Given the description of an element on the screen output the (x, y) to click on. 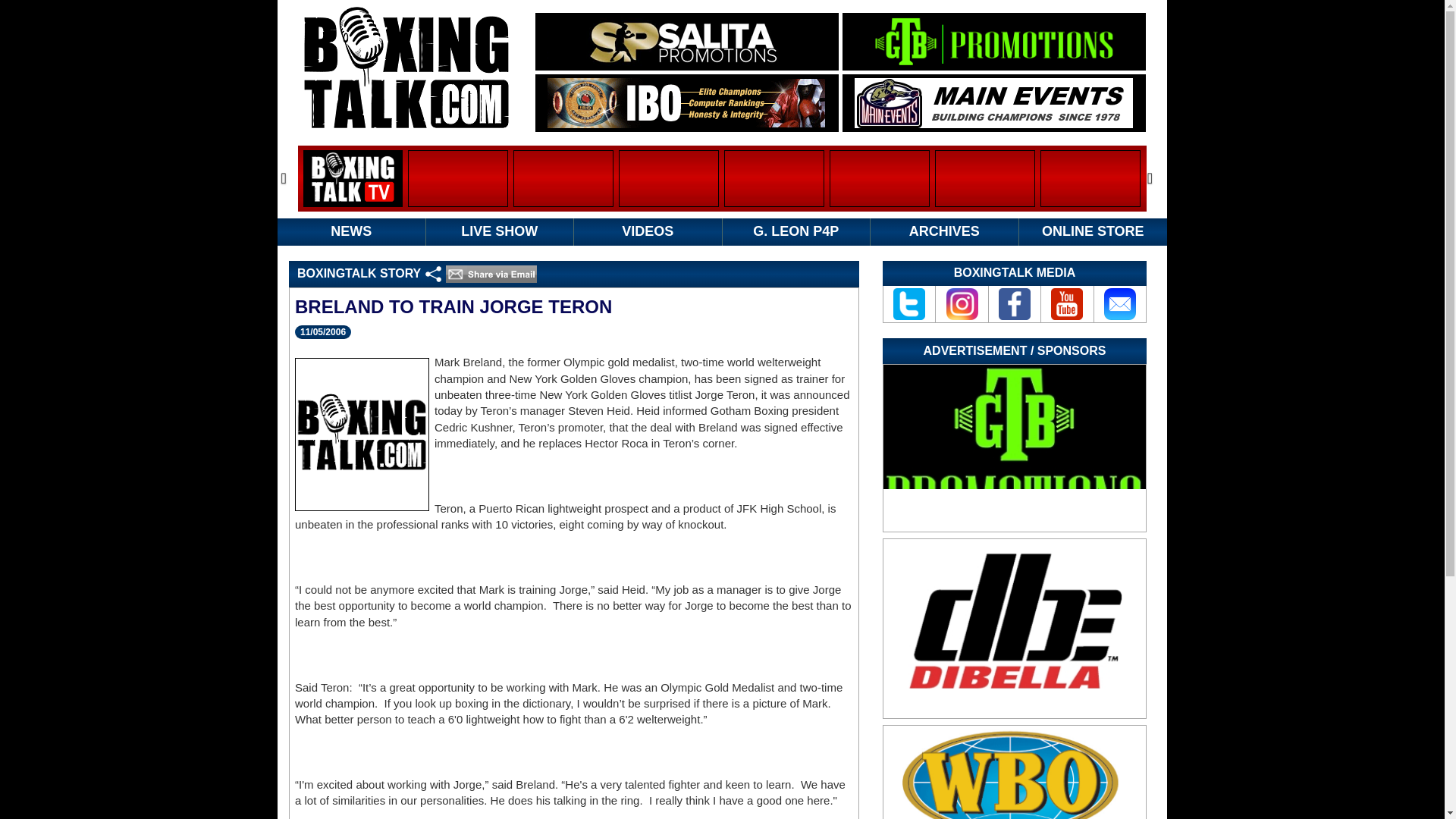
IBO Boxing (686, 102)
TGB Promotions 2 (1014, 447)
Main Events (993, 102)
World Boxing Organization (1014, 772)
Salita Promotions (686, 41)
BoxingTalk TV (352, 178)
TGB Promotions (993, 41)
Dibella Entertainment (1014, 628)
